Given the description of an element on the screen output the (x, y) to click on. 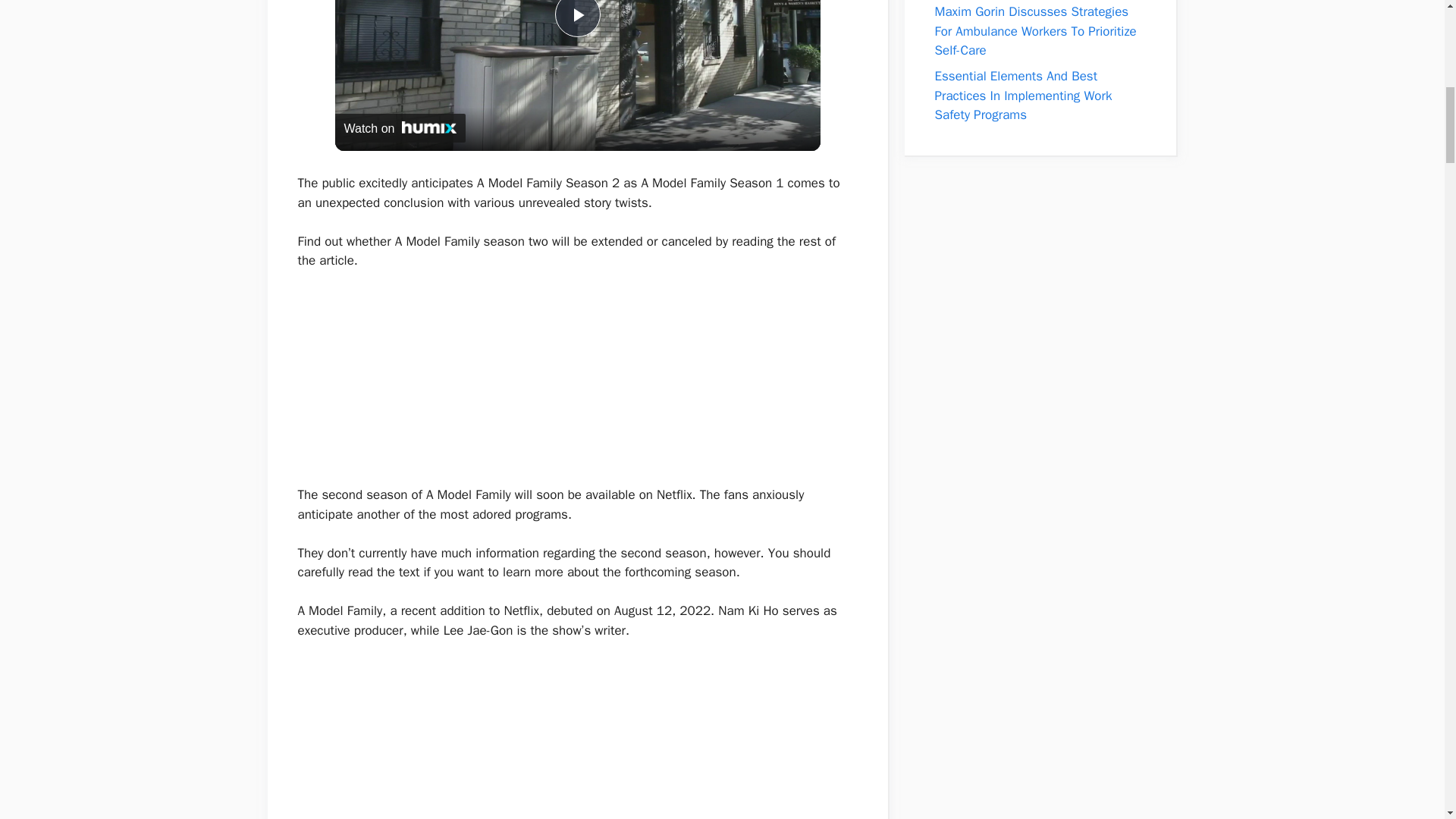
Watch on (399, 127)
Play Video (576, 18)
Play Video (576, 18)
